Given the description of an element on the screen output the (x, y) to click on. 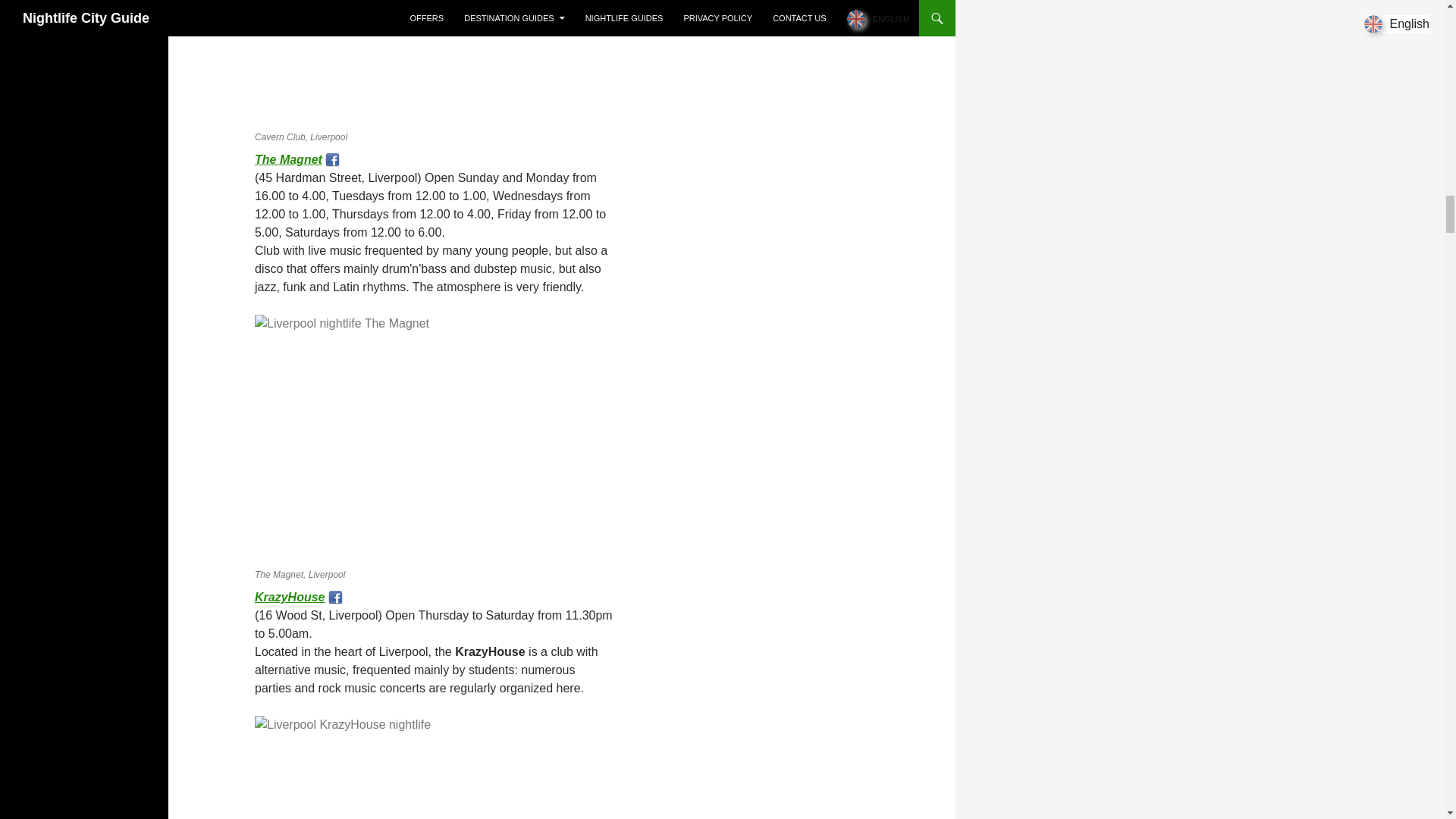
Liverpool KrazyHouse nightlife (289, 596)
Liverpool nightlife The Magnet (287, 159)
